Given the description of an element on the screen output the (x, y) to click on. 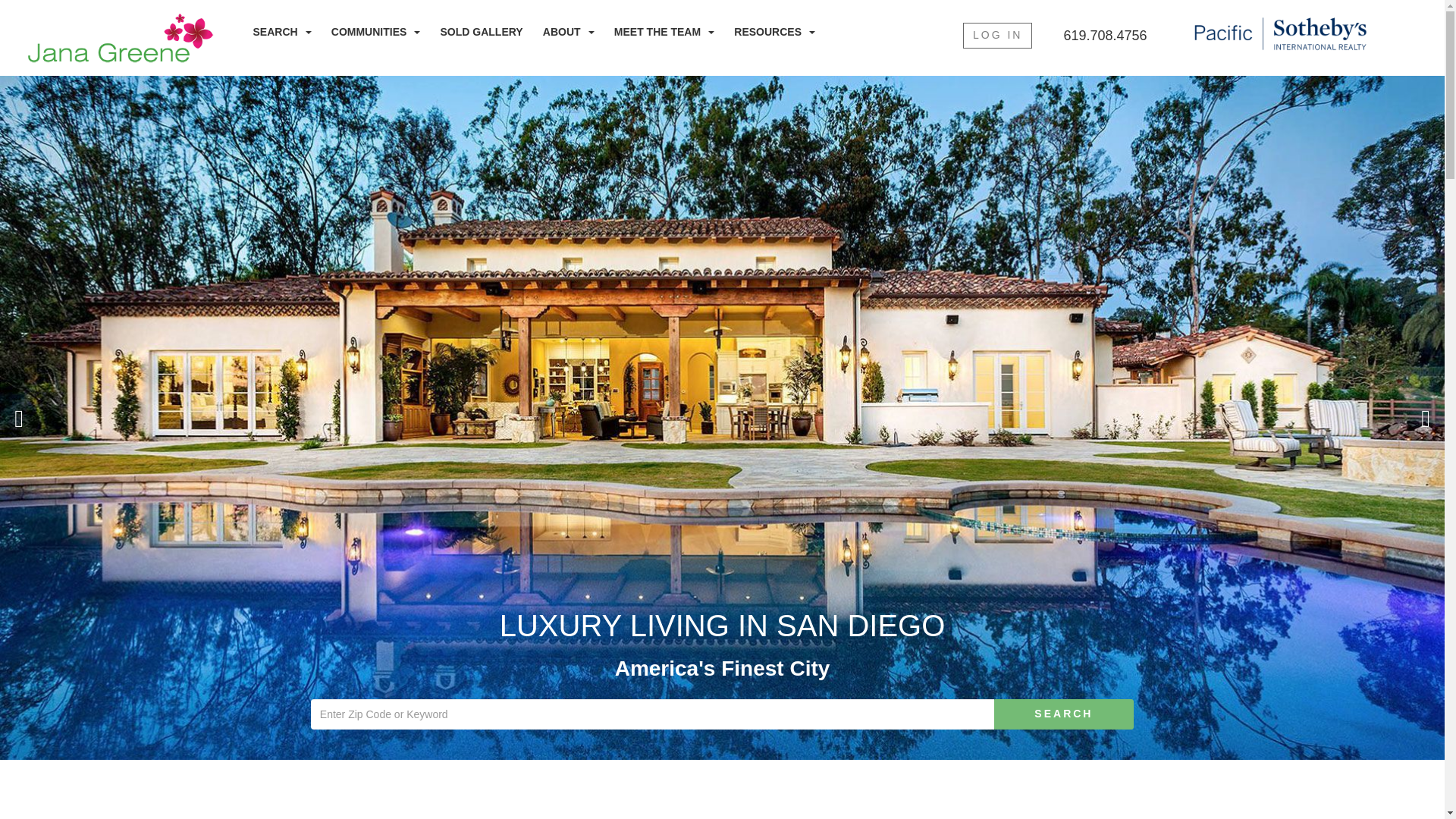
Search (1064, 714)
RESOURCES (774, 31)
ABOUT (568, 31)
SOLD GALLERY (481, 31)
COMMUNITIES (375, 31)
LOG IN (997, 35)
SEARCH (282, 31)
MEET THE TEAM (664, 31)
